Given the description of an element on the screen output the (x, y) to click on. 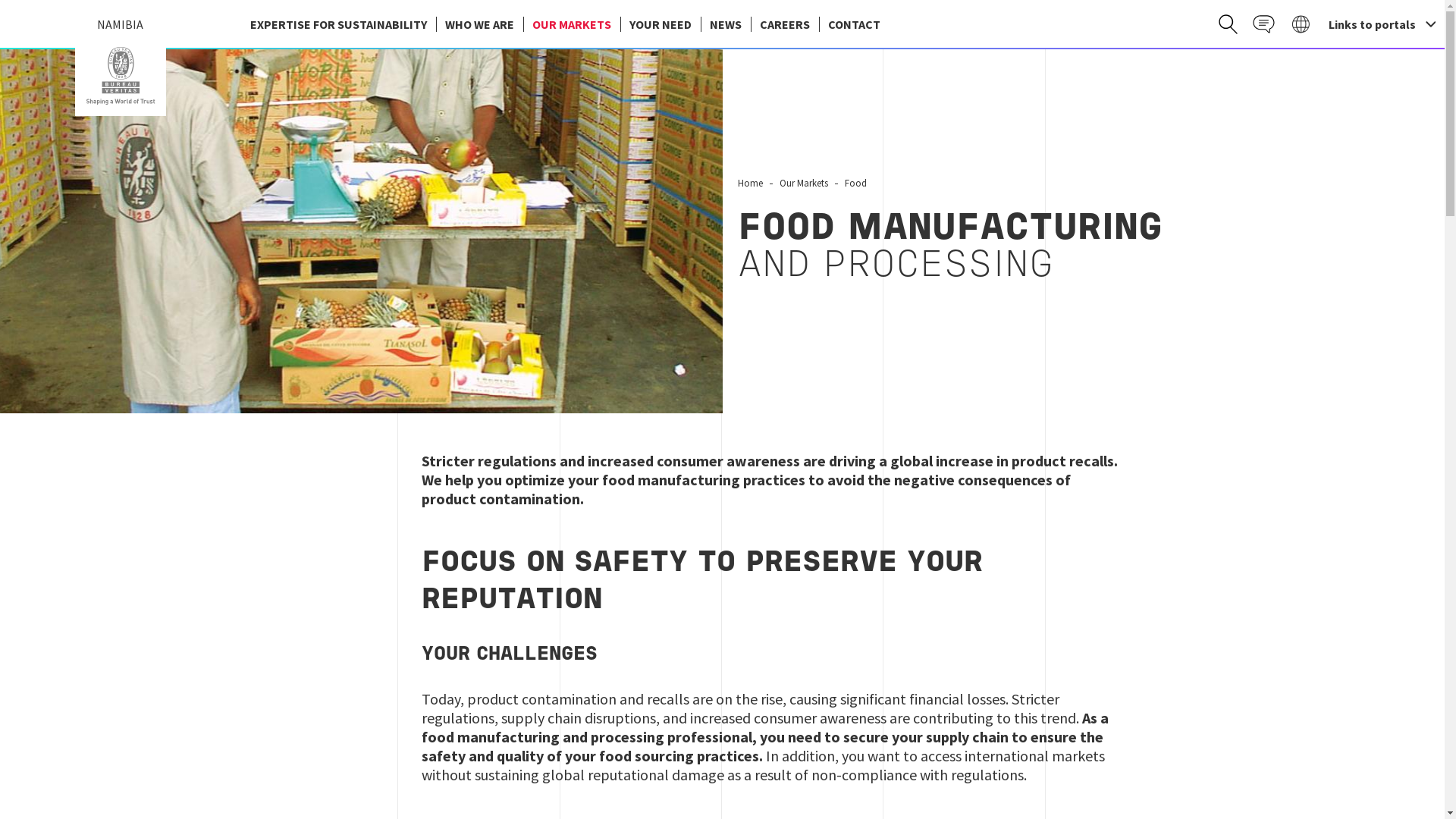
EXPERTISE FOR SUSTAINABILITY (338, 23)
WHO WE ARE (478, 23)
Home (120, 76)
Namibia (120, 76)
OUR MARKETS (571, 23)
